Given the description of an element on the screen output the (x, y) to click on. 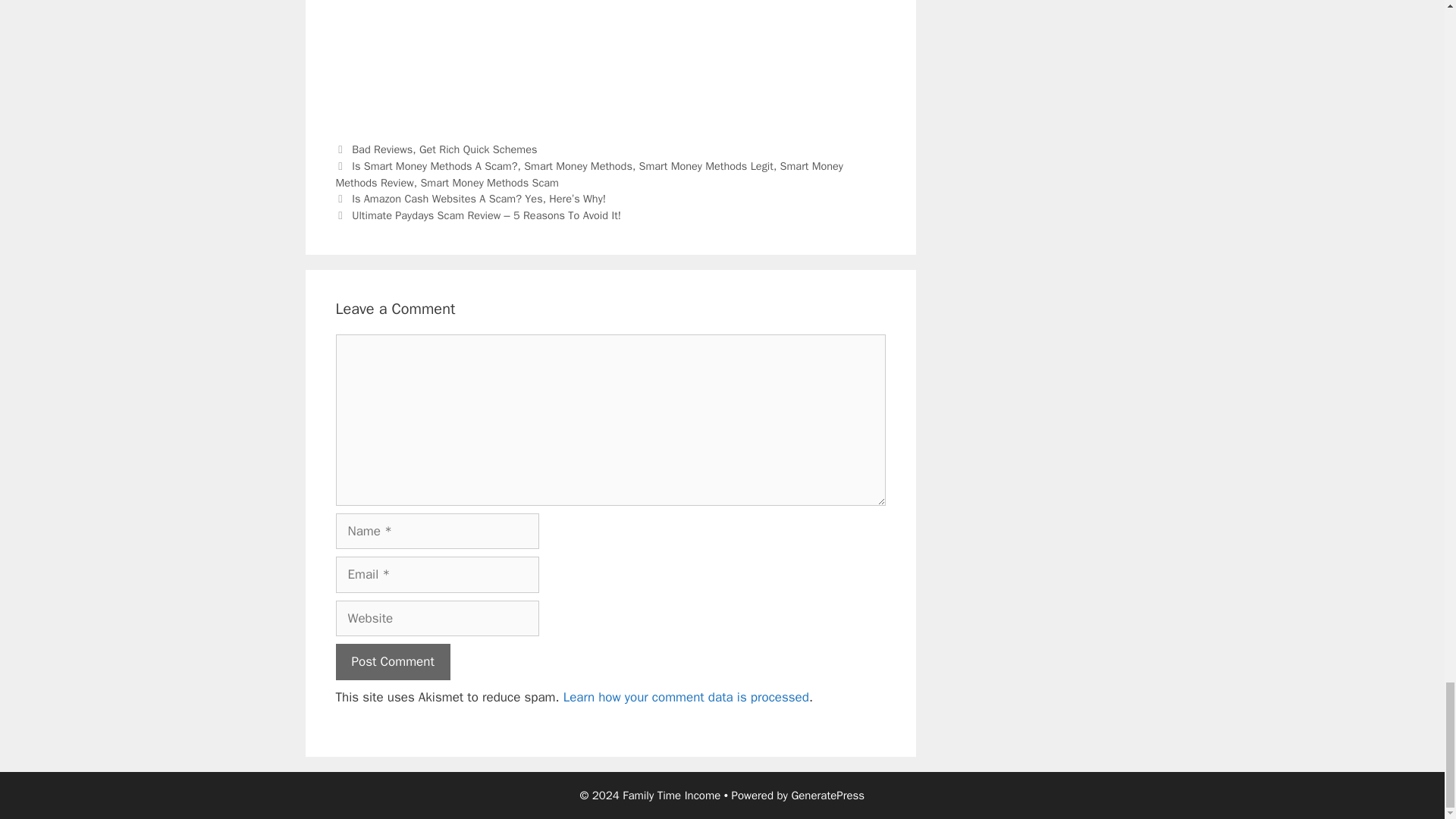
Next (477, 214)
Get Rich Quick Schemes (478, 149)
Smart Money Methods Legit (706, 165)
Post Comment (391, 661)
Smart Money Methods (577, 165)
Previous (469, 198)
Smart Money Methods Review (588, 173)
Is Smart Money Methods A Scam? (434, 165)
Bad Reviews (382, 149)
Smart Money Methods Scam (489, 182)
